Given the description of an element on the screen output the (x, y) to click on. 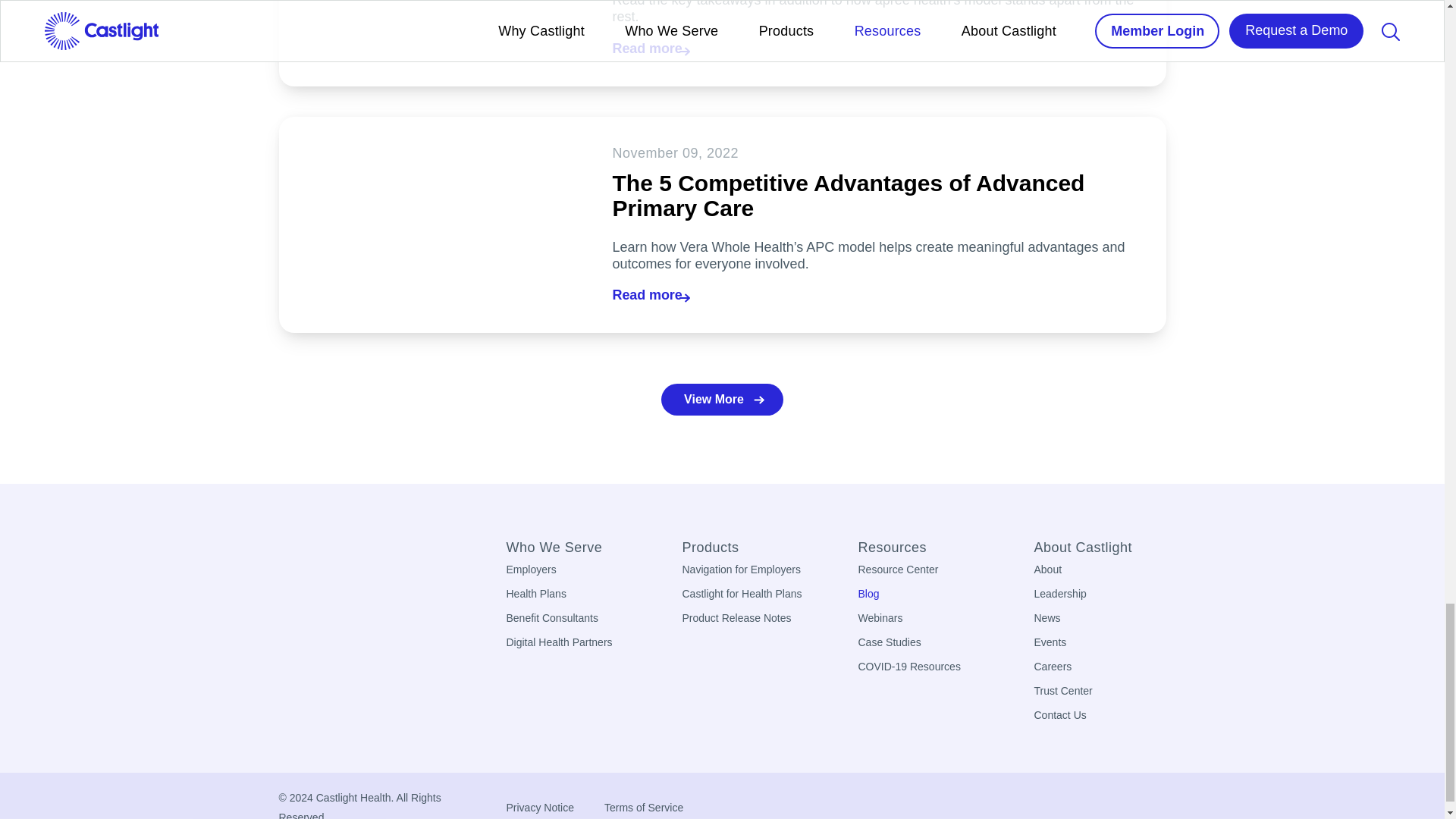
View More (722, 399)
Castlight Health - Health Navigation Platform (304, 555)
Doctor sharing good test results with patient (430, 43)
